Given the description of an element on the screen output the (x, y) to click on. 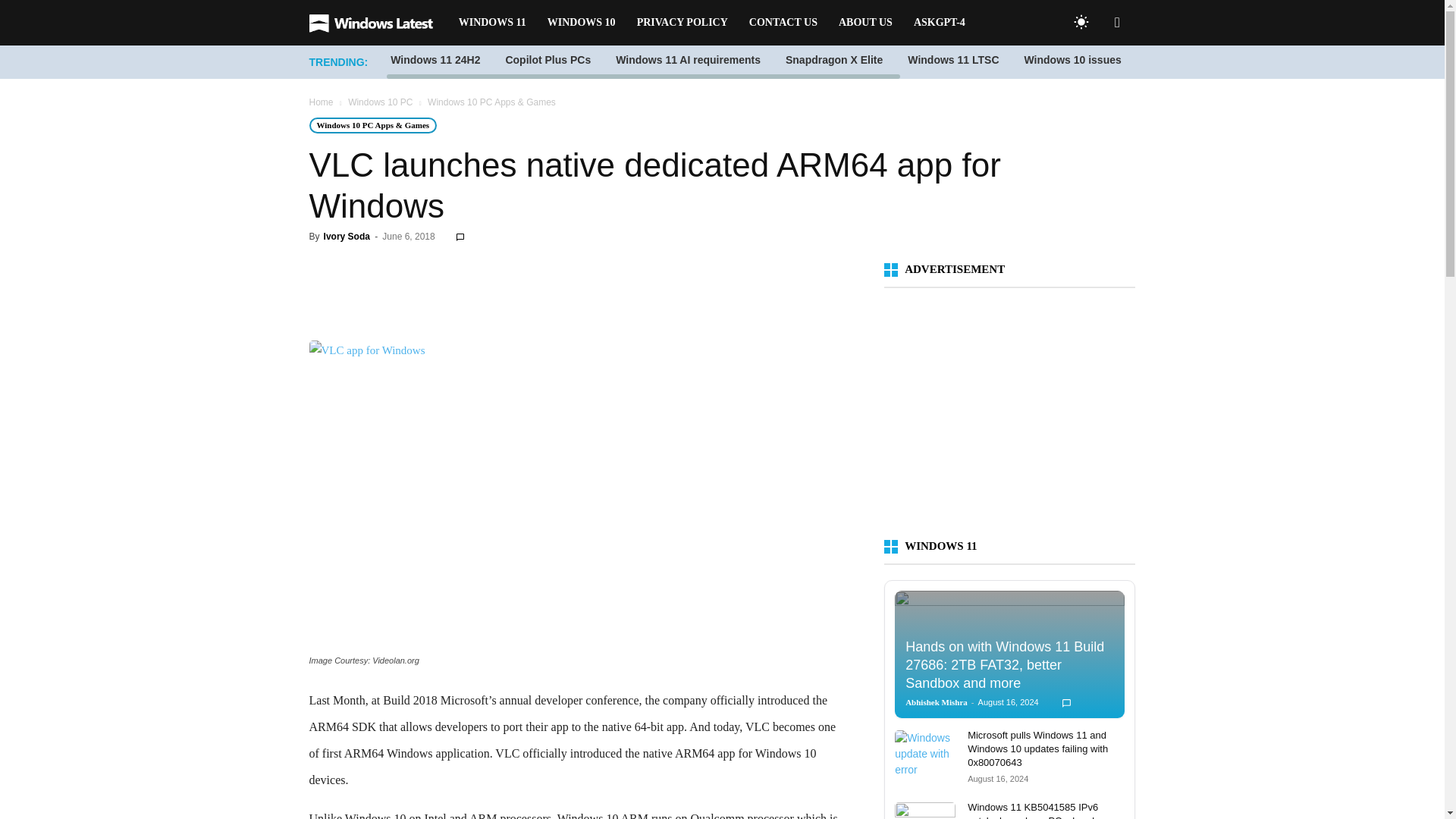
Windows Latest (378, 22)
WINDOWS 10 (581, 22)
WINDOWS 11 (492, 22)
